Given the description of an element on the screen output the (x, y) to click on. 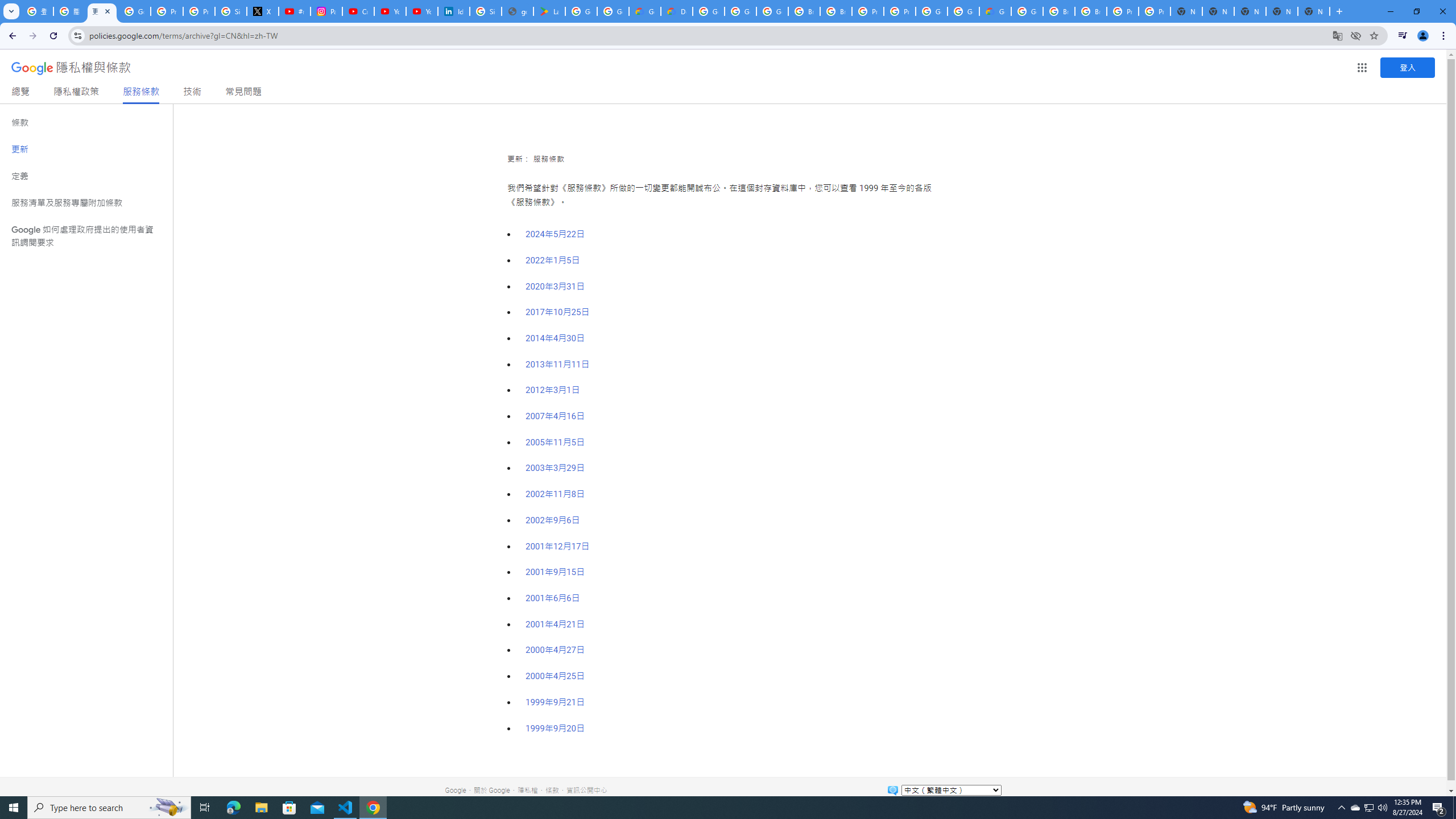
Google Cloud Estimate Summary (995, 11)
